Given the description of an element on the screen output the (x, y) to click on. 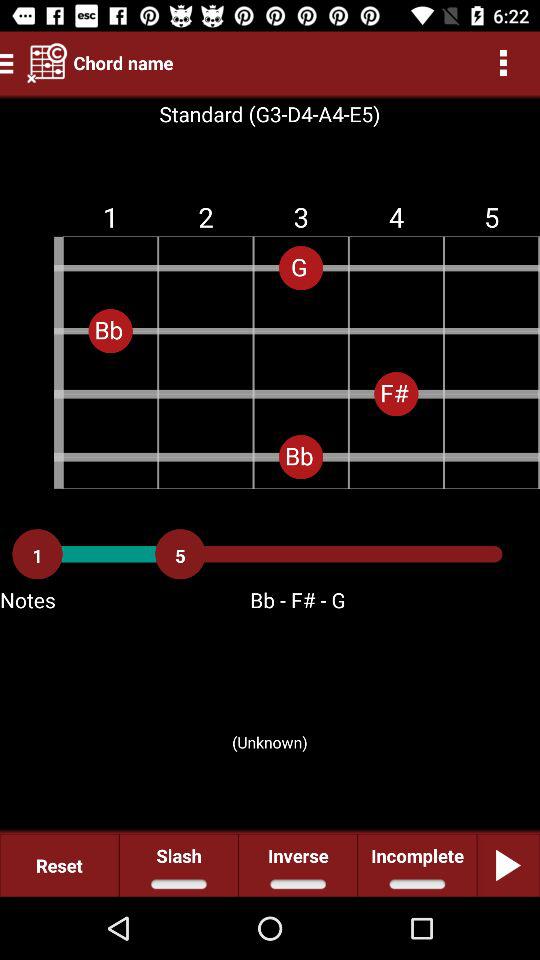
tap incomplete item (416, 864)
